Given the description of an element on the screen output the (x, y) to click on. 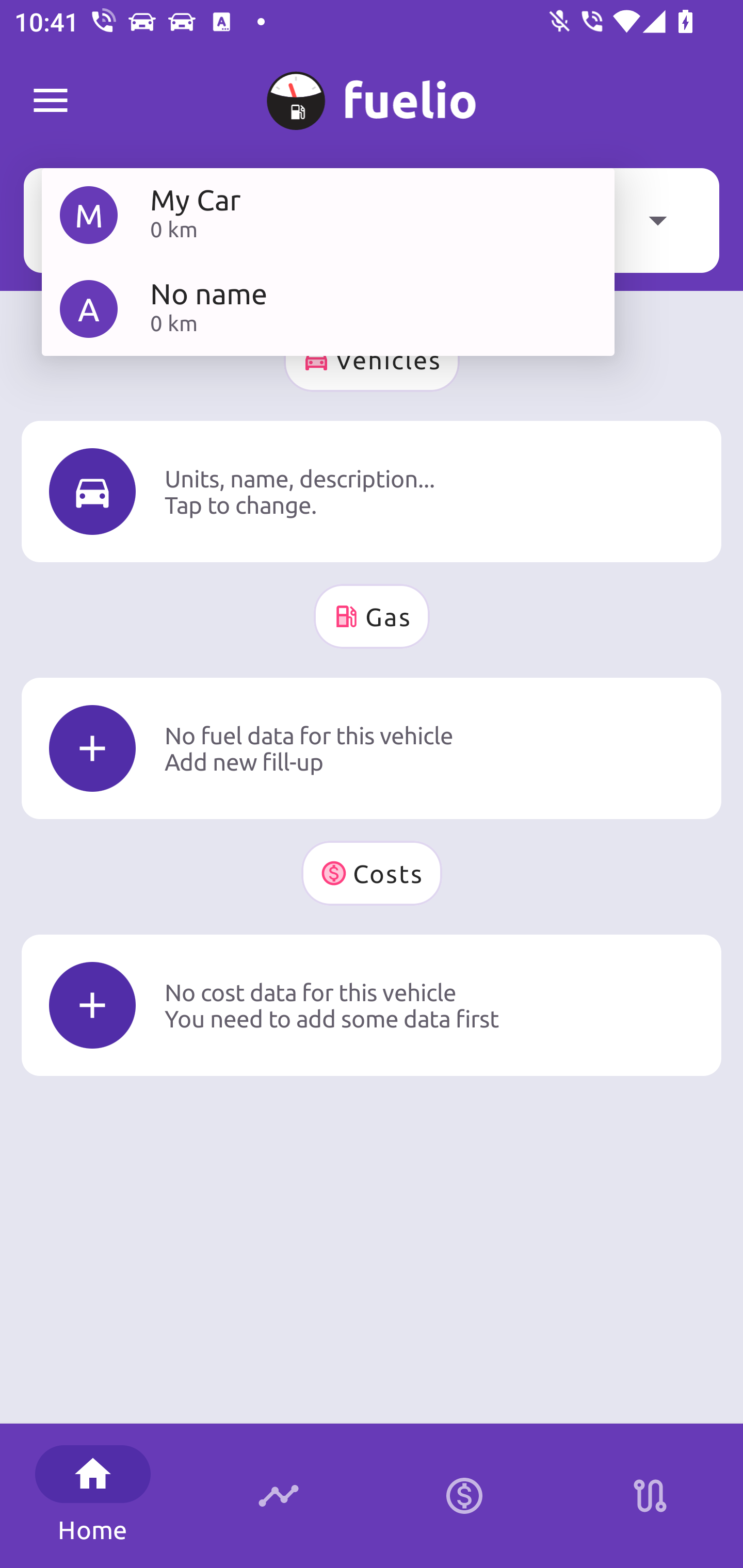
M My Car 0 km (327, 214)
A No name 0 km (327, 308)
